Given the description of an element on the screen output the (x, y) to click on. 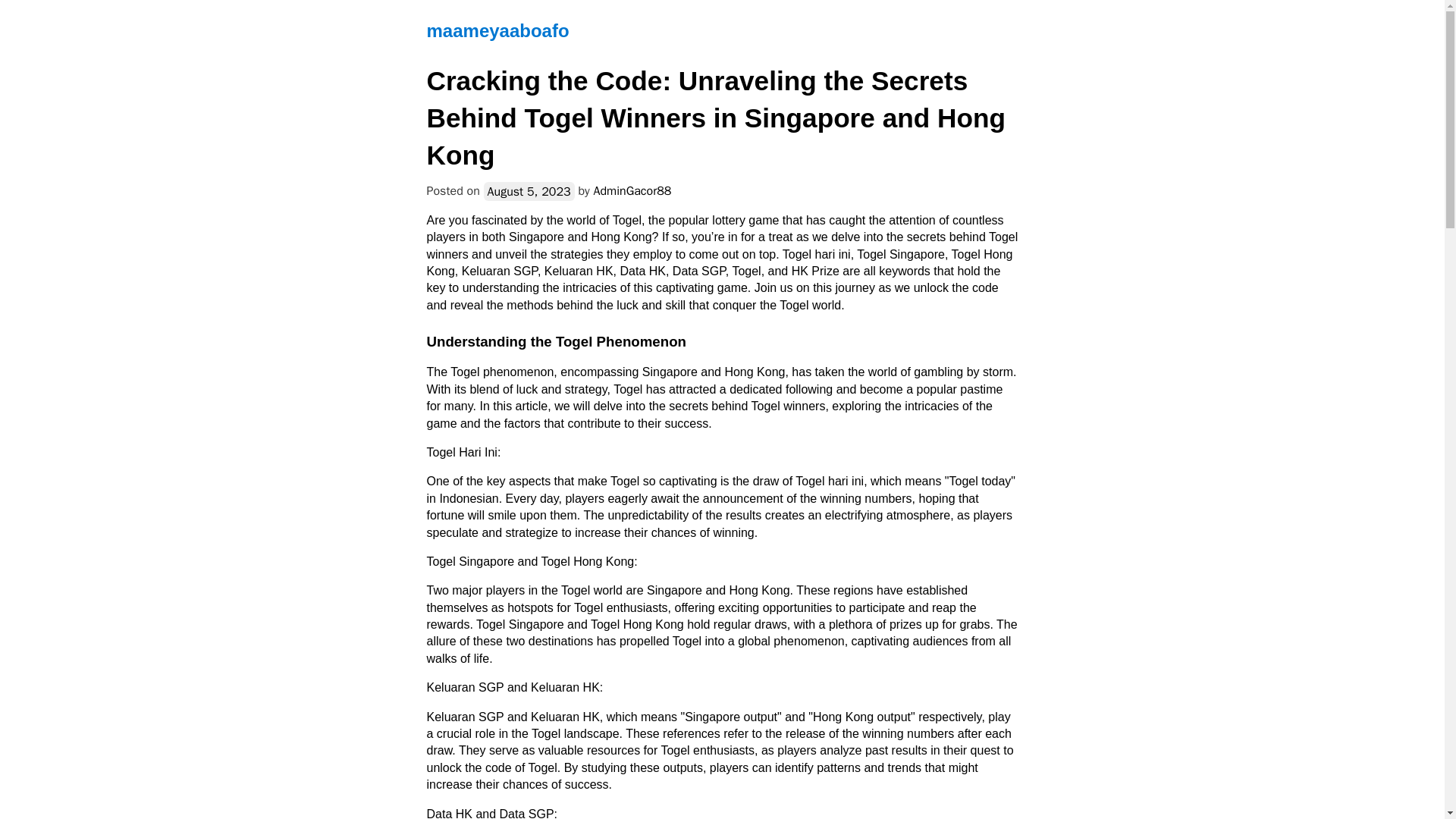
maameyaaboafo (497, 30)
August 5, 2023 (529, 190)
